Given the description of an element on the screen output the (x, y) to click on. 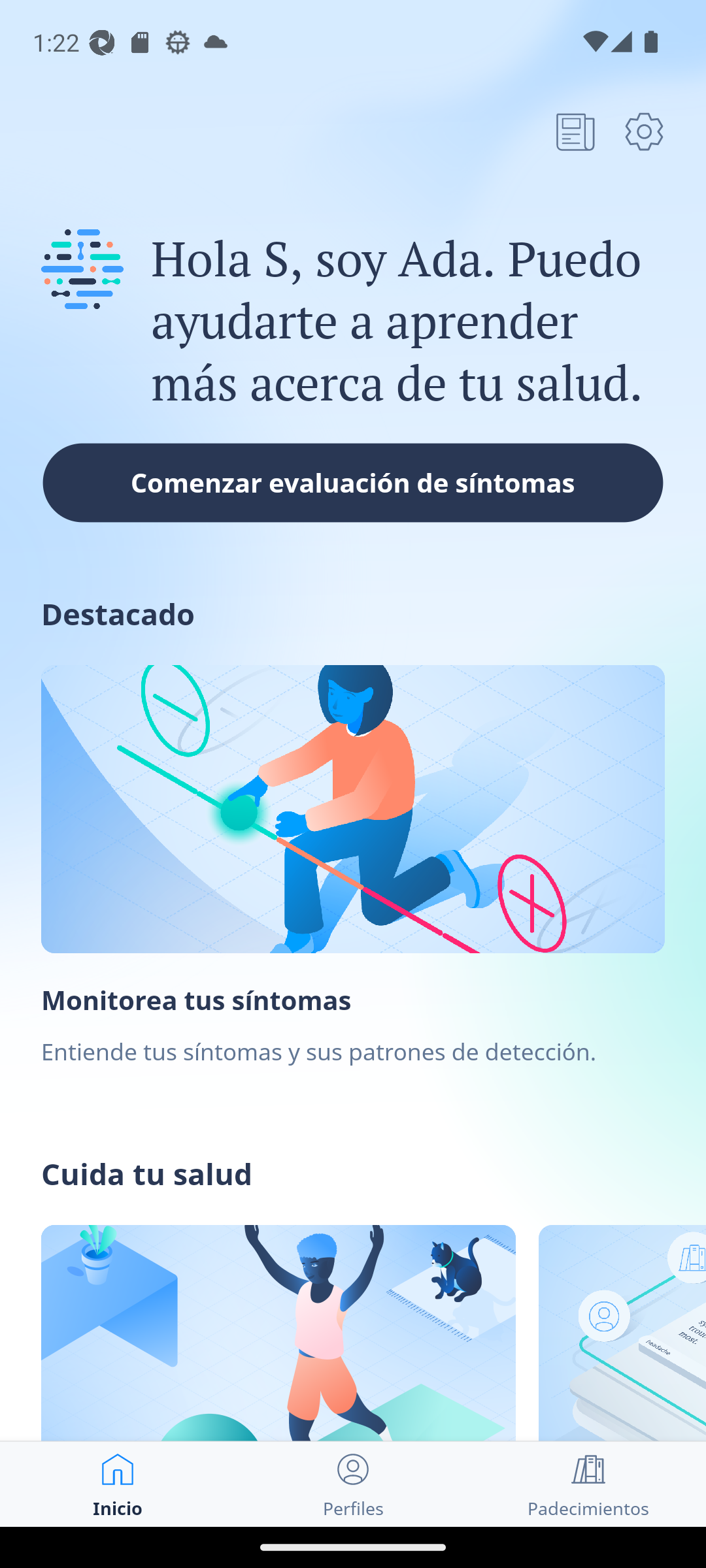
article icon , open articles (574, 131)
settings icon, open settings (644, 131)
Comenzar evaluación de síntomas (352, 482)
Inicio (117, 1484)
Perfiles (352, 1484)
Padecimientos (588, 1484)
